Given the description of an element on the screen output the (x, y) to click on. 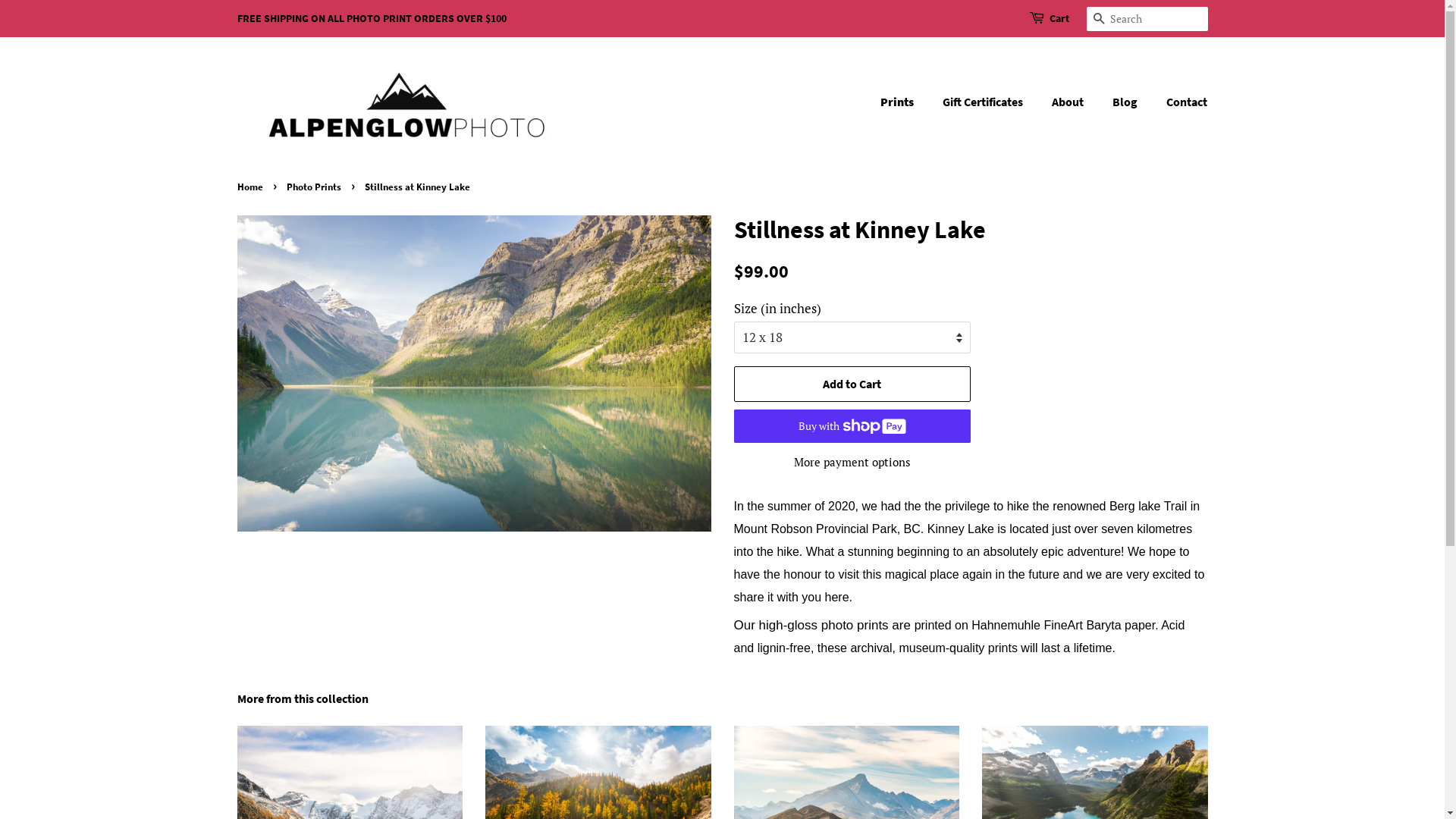
Photo Prints Element type: text (315, 186)
Add to Cart Element type: text (852, 383)
Gift Certificates Element type: text (984, 101)
About Element type: text (1069, 101)
Prints Element type: text (904, 101)
Home Element type: text (251, 186)
Contact Element type: text (1180, 101)
Search Element type: text (1097, 18)
Cart Element type: text (1059, 18)
More payment options Element type: text (852, 461)
Blog Element type: text (1126, 101)
